Given the description of an element on the screen output the (x, y) to click on. 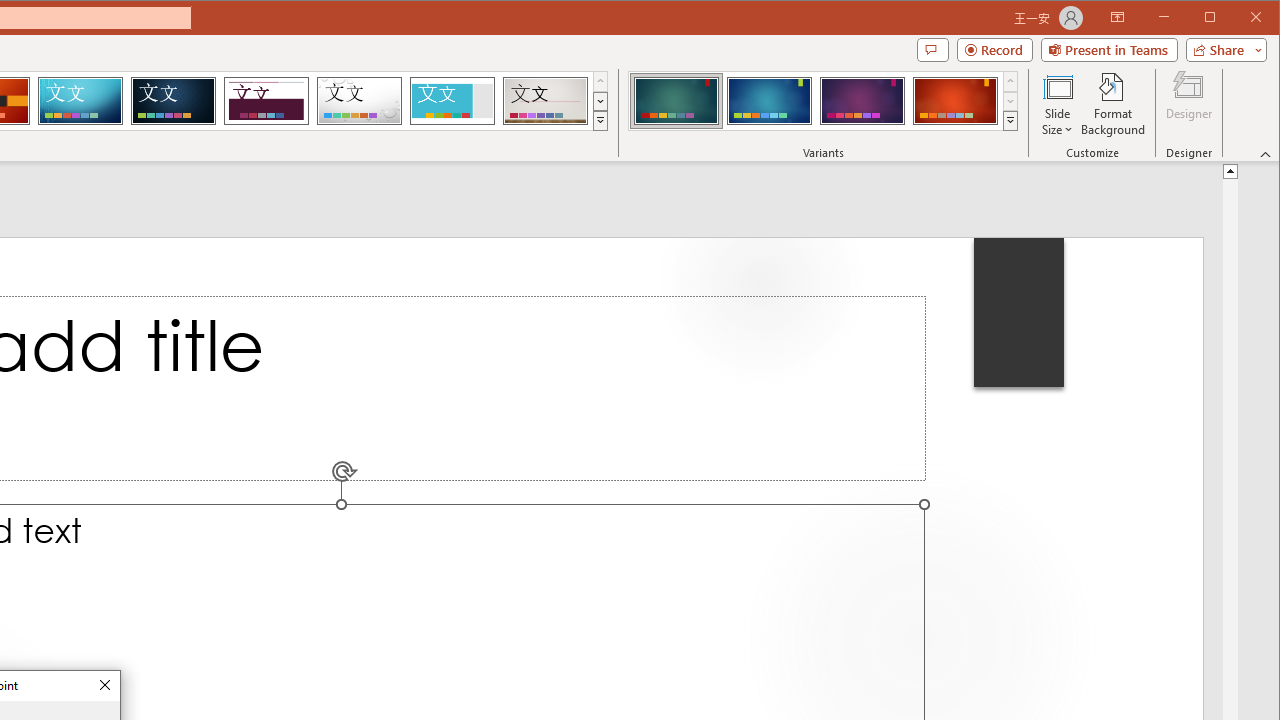
Themes (600, 120)
Variants (1010, 120)
Slide Size (1057, 104)
Damask (173, 100)
Ion Variant 3 (862, 100)
Format Background (1113, 104)
Dividend (266, 100)
Circuit (80, 100)
